Given the description of an element on the screen output the (x, y) to click on. 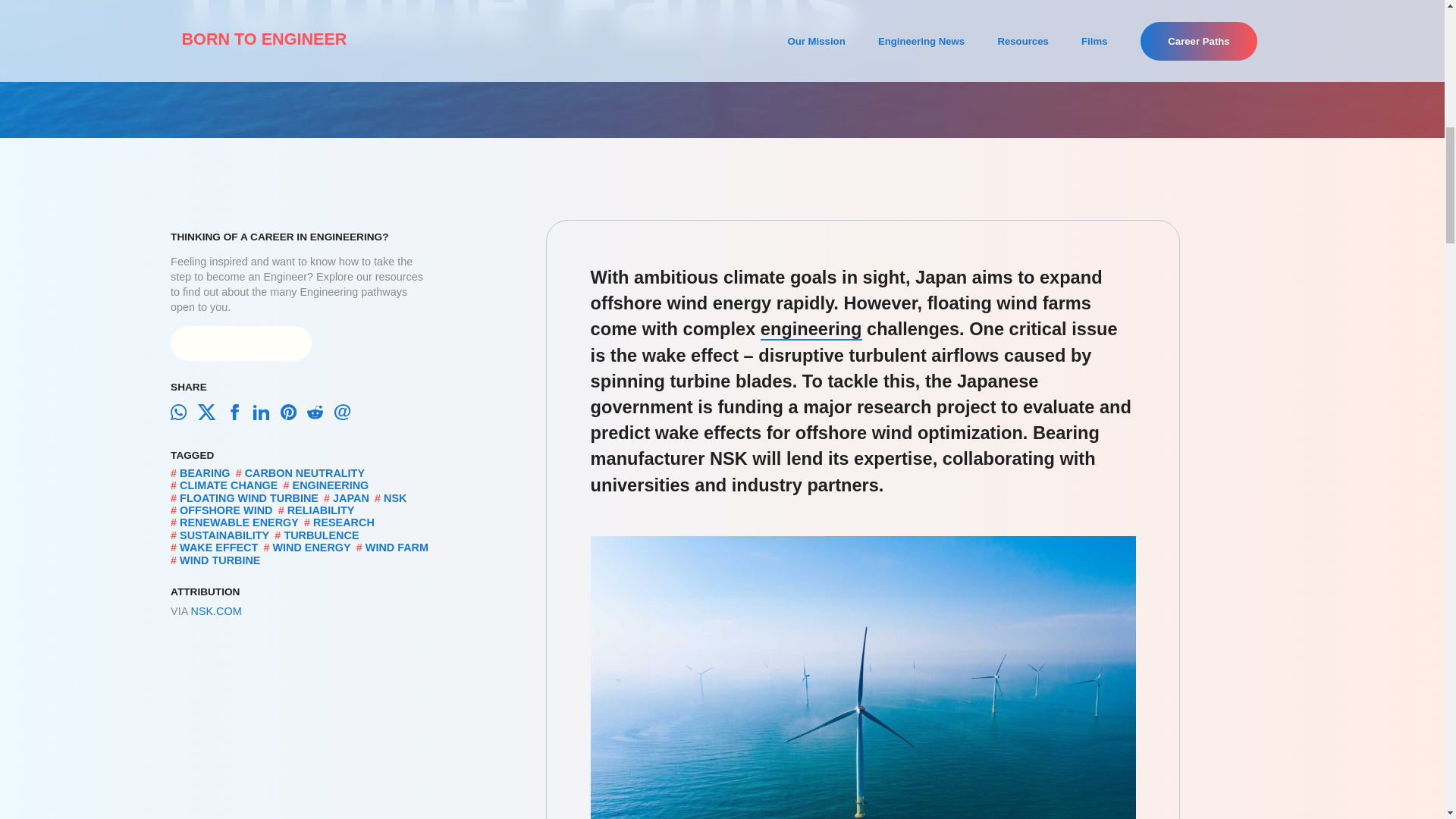
ENGINEERING (330, 485)
RENEWABLE ENERGY (238, 522)
OFFSHORE WIND (225, 510)
JAPAN (351, 498)
BEARING (204, 472)
CARBON NEUTRALITY (304, 472)
FLOATING WIND TURBINE (248, 498)
Take the next step (240, 343)
CLIMATE CHANGE (228, 485)
NSK (395, 498)
RELIABILITY (320, 510)
